Given the description of an element on the screen output the (x, y) to click on. 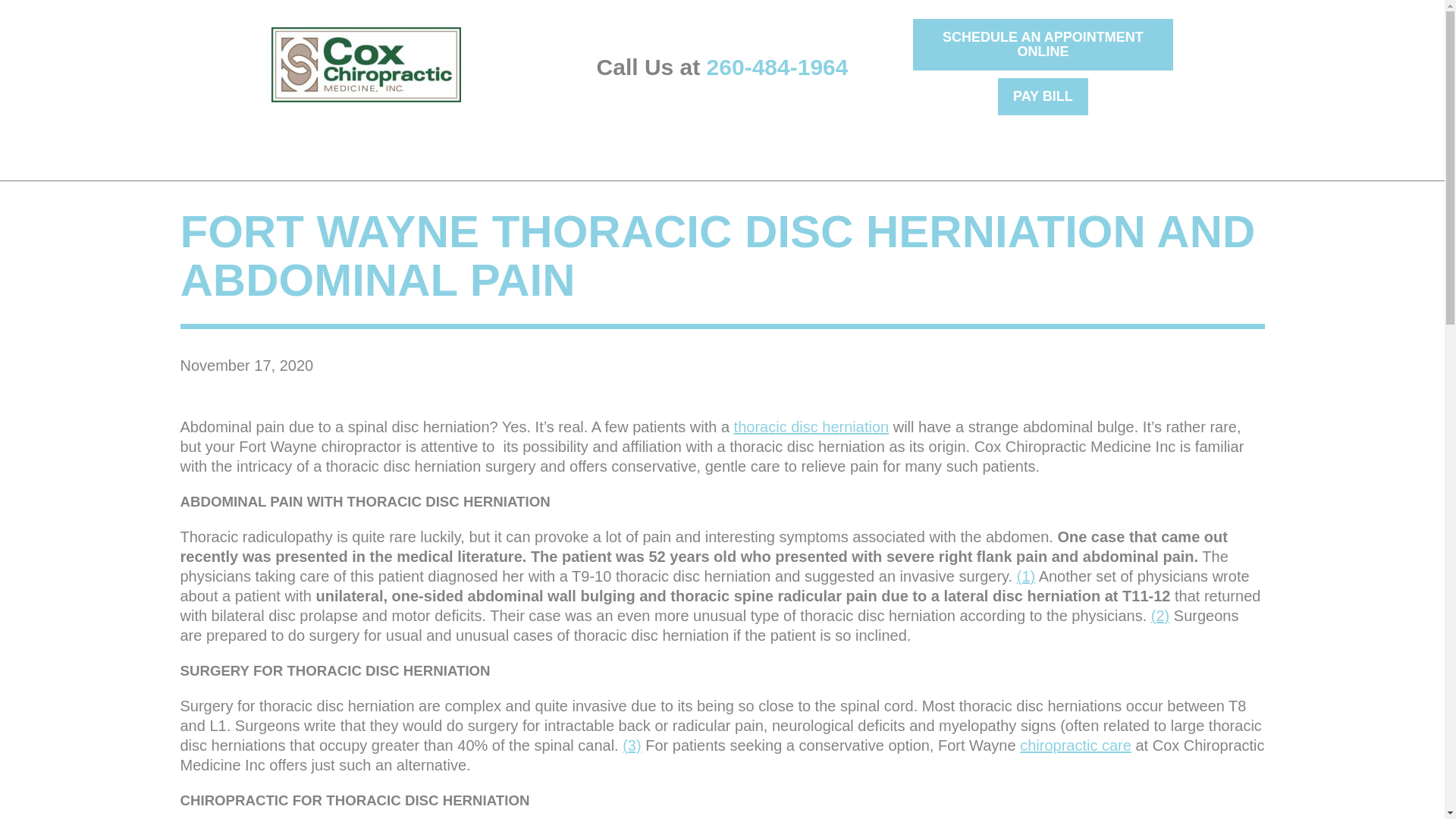
GET RELIEF (330, 143)
260-484-1964 (777, 66)
SCHEDULE AN APPOINTMENT ONLINE (1042, 44)
ID YOUR PAIN (216, 143)
Cox Chiropractic Medicine Inc Home (365, 64)
PAY BILL (1042, 96)
